Given the description of an element on the screen output the (x, y) to click on. 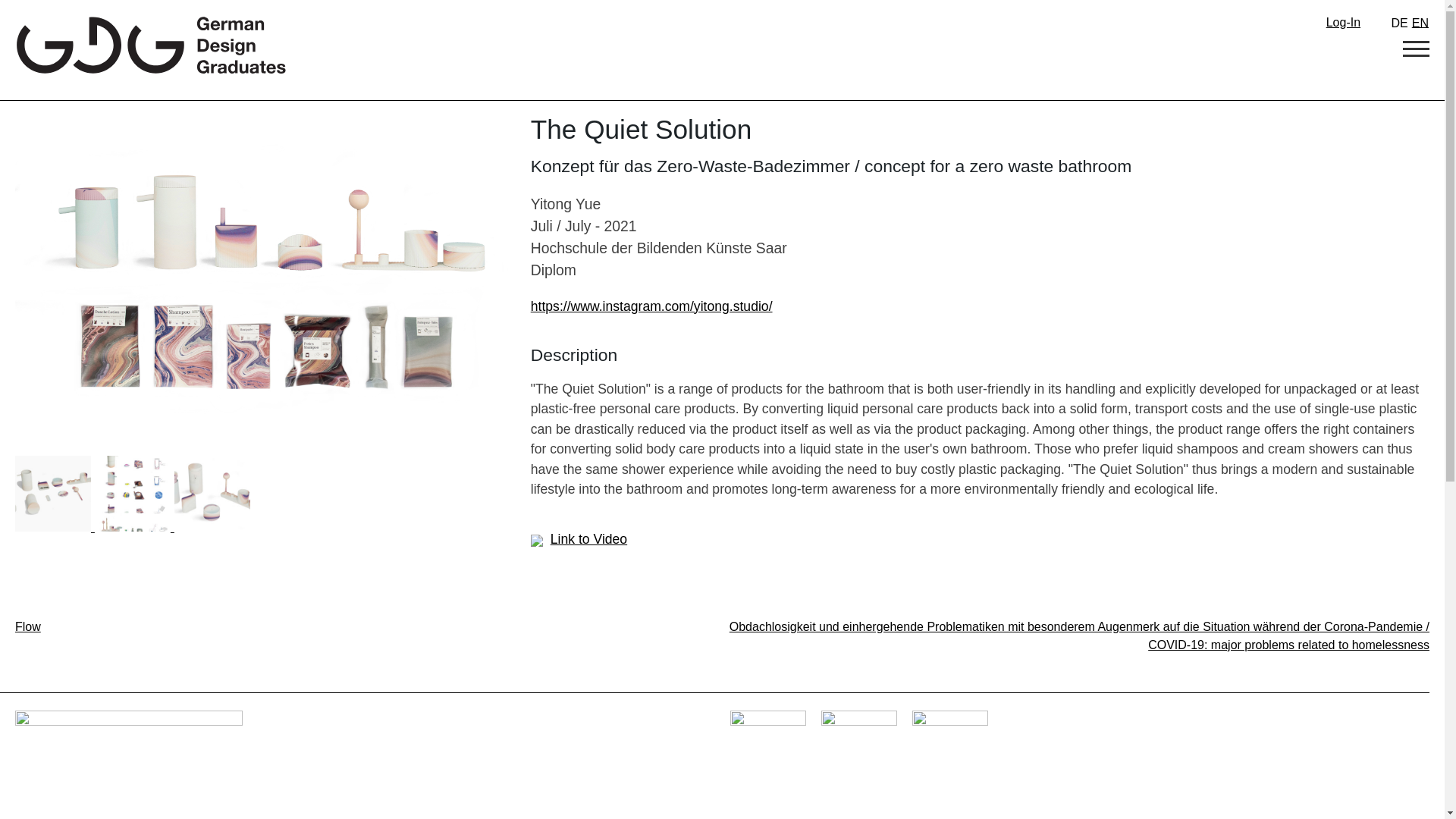
Log-In (1347, 21)
EN (1417, 22)
Link to Video (579, 539)
DE (1397, 22)
Flow (27, 626)
